Given the description of an element on the screen output the (x, y) to click on. 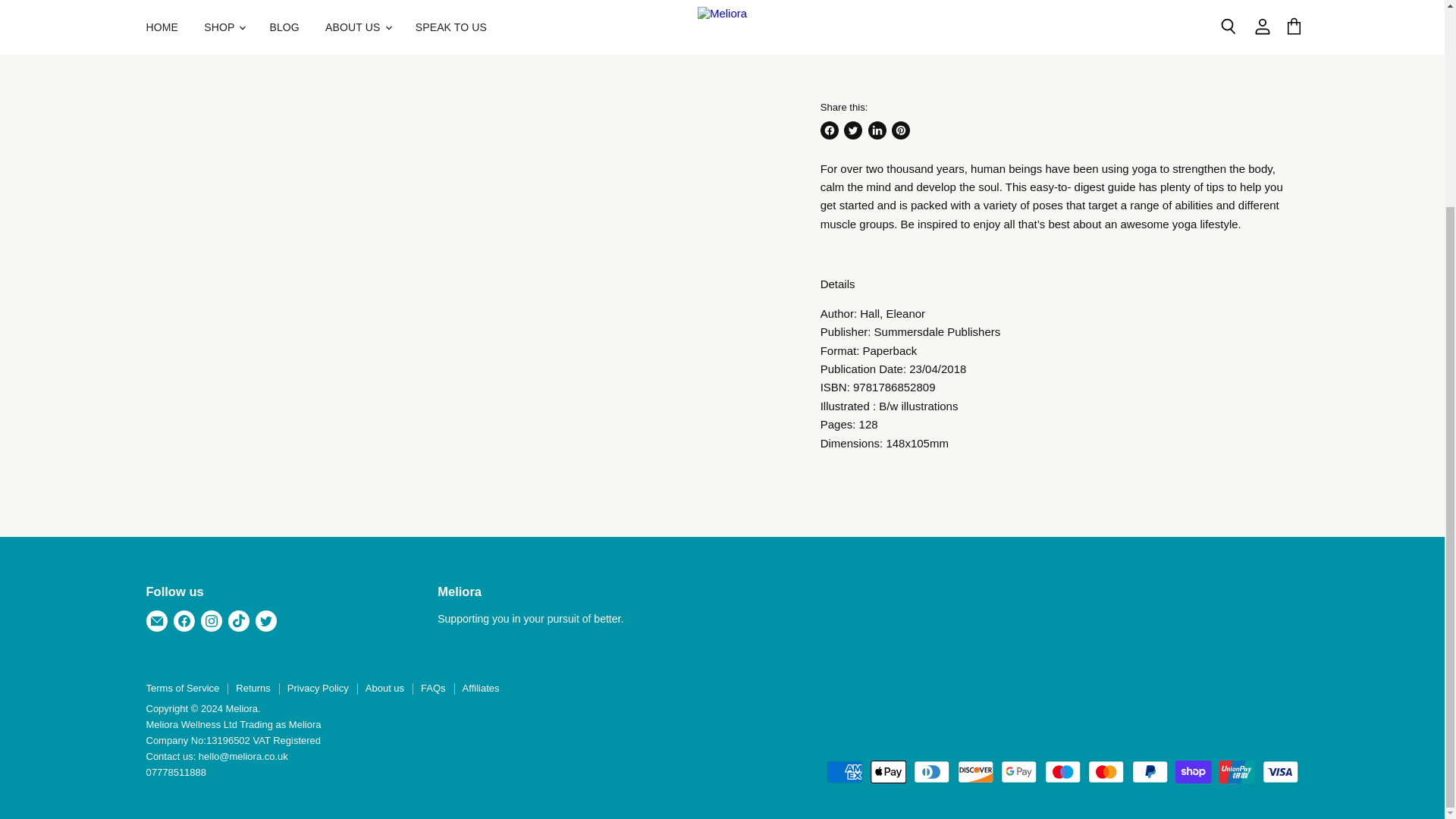
E-mail (156, 620)
Facebook (183, 620)
Instagram (210, 620)
Page 1 (1059, 348)
Twitter (265, 620)
TikTok (237, 620)
